Given the description of an element on the screen output the (x, y) to click on. 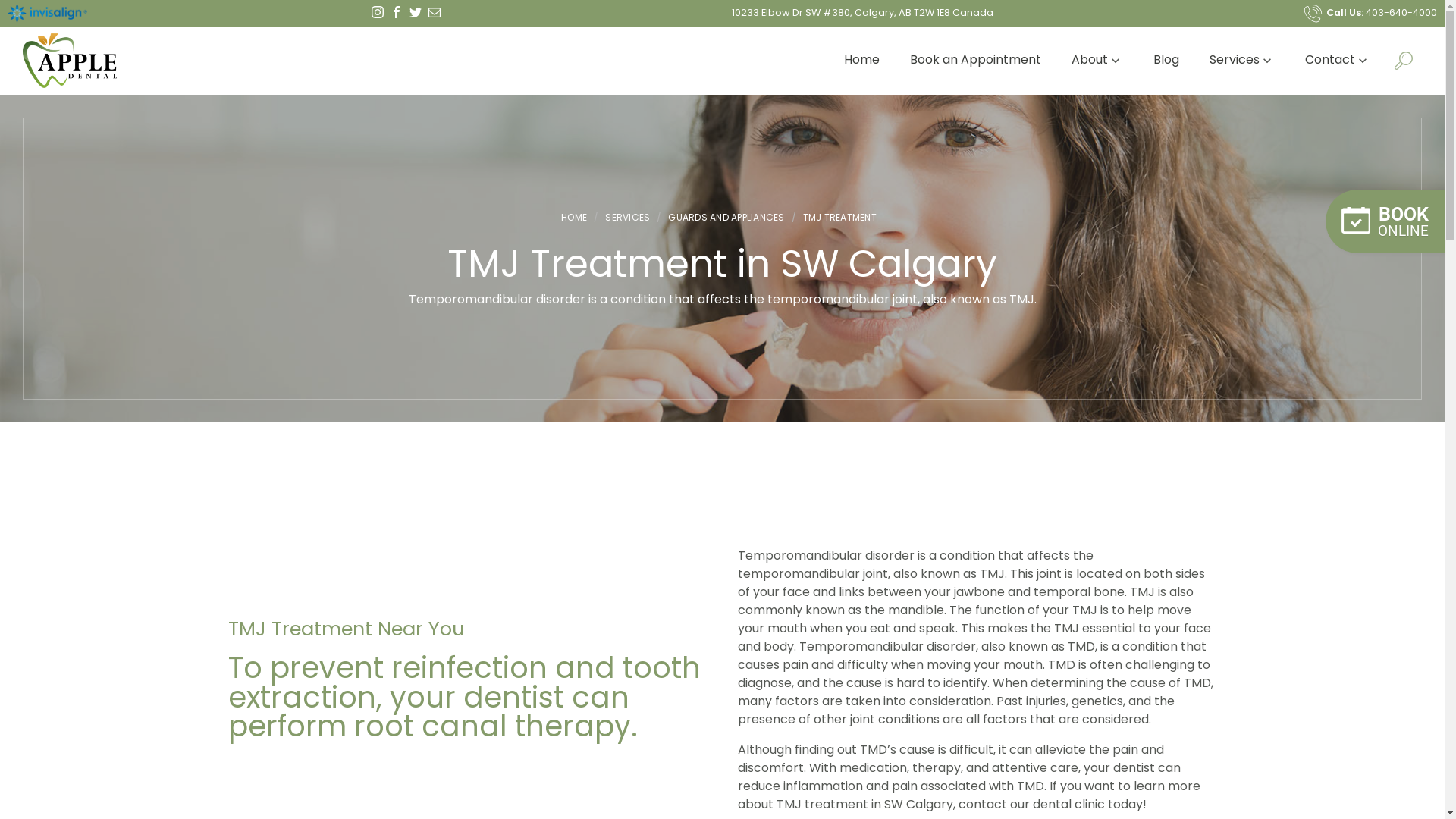
Blog Element type: text (1166, 60)
Home Element type: text (861, 60)
HOME Element type: text (577, 217)
GUARDS AND APPLIANCES Element type: text (725, 217)
Contact Element type: text (1337, 60)
TMJ TREATMENT Element type: text (839, 217)
Call Us: 403-640-4000 Element type: text (1370, 12)
Book an Appointment Element type: text (975, 60)
10233 Elbow Dr SW #380, Calgary, AB T2W 1E8 Canada Element type: text (861, 12)
Services Element type: text (1241, 60)
About Element type: text (1097, 60)
SERVICES Element type: text (627, 217)
